Given the description of an element on the screen output the (x, y) to click on. 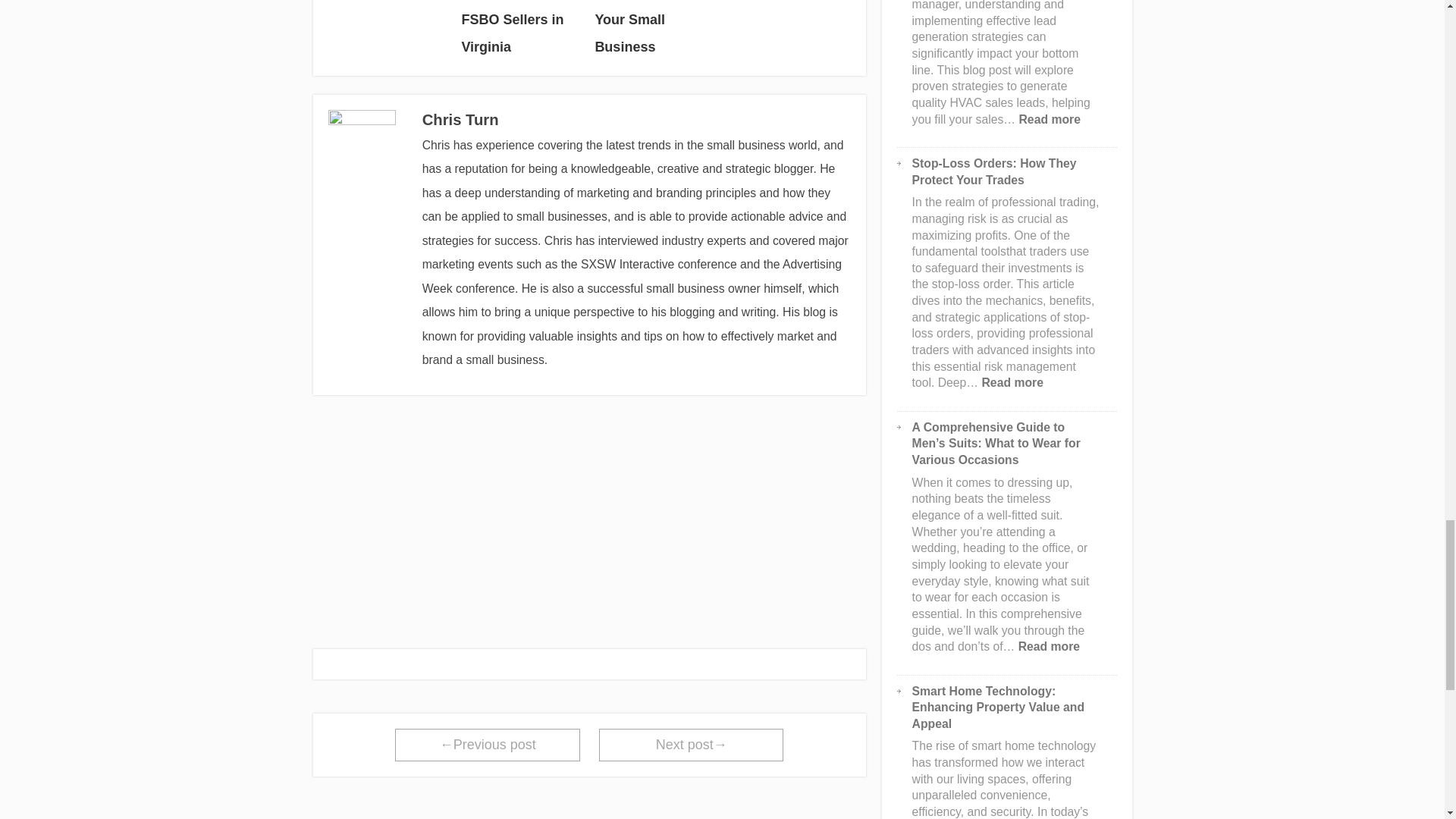
Who Pays for Title Insurance in Michigan? (388, 2)
Advertisement (589, 516)
